Given the description of an element on the screen output the (x, y) to click on. 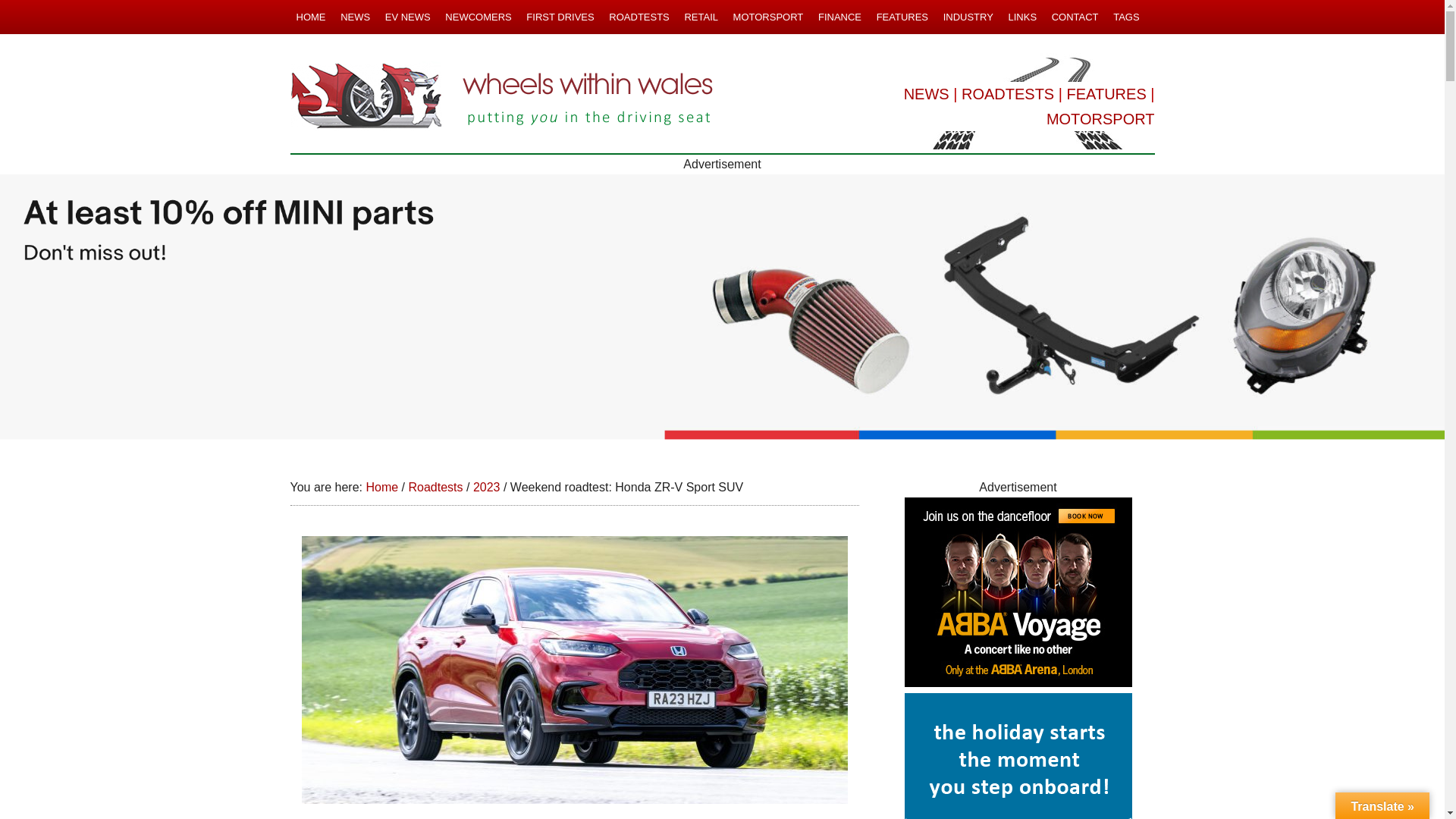
MOTORSPORT (767, 17)
TAGS (1125, 17)
FIRST DRIVES (559, 17)
INDUSTRY (967, 17)
MOTORSPORT (1100, 118)
RETAIL (700, 17)
NEWCOMERS (477, 17)
NEWS (354, 17)
FINANCE (839, 17)
FEATURES (902, 17)
Roadtests (435, 486)
HOME (310, 17)
2023 (486, 486)
CONTACT (1075, 17)
LINKS (1021, 17)
